Given the description of an element on the screen output the (x, y) to click on. 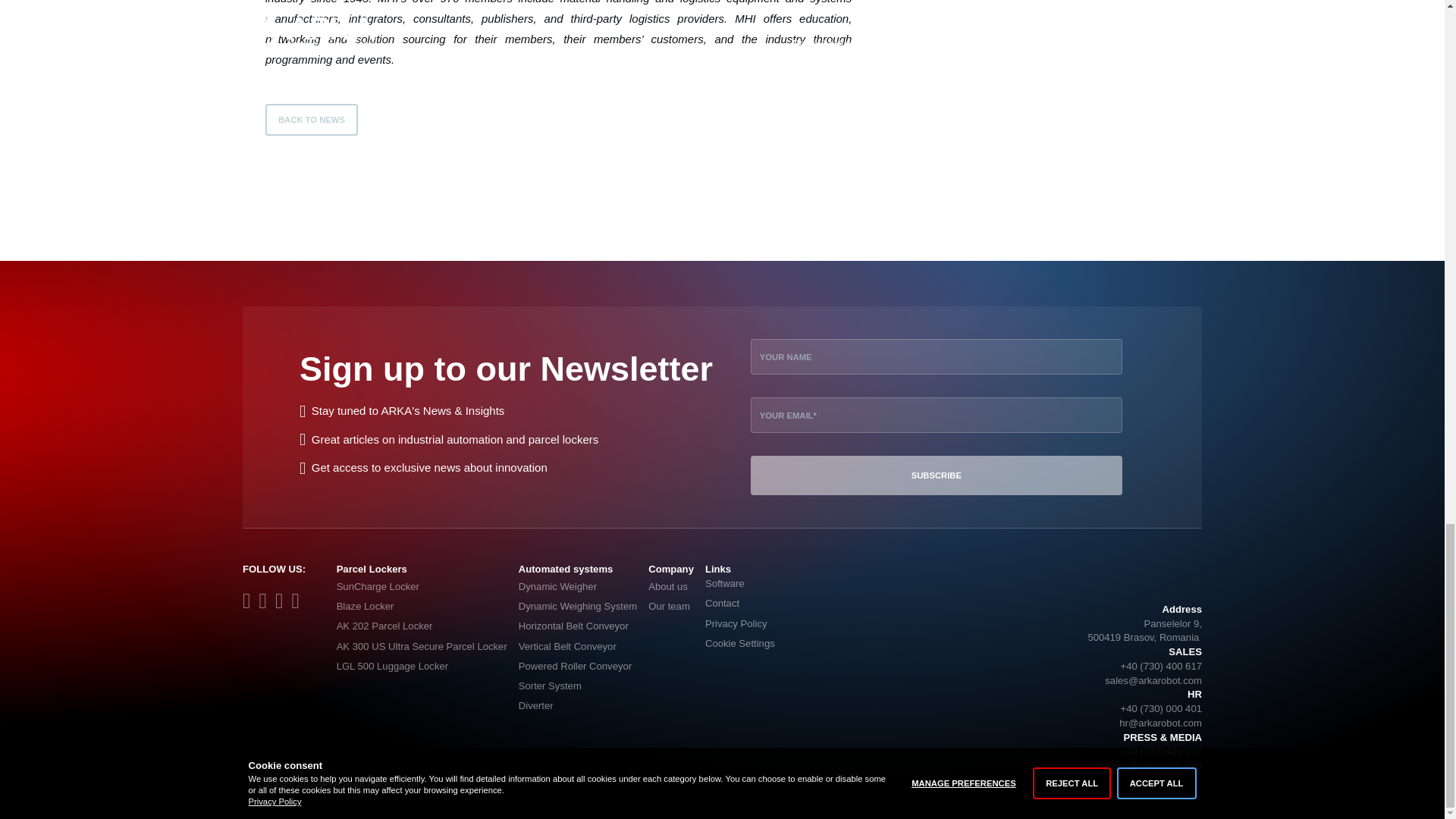
Blaze Locker (421, 606)
BACK TO NEWS (311, 119)
Follow us on YouTube (283, 603)
Software (739, 587)
Our team (670, 606)
SUBSCRIBE (936, 475)
Powered Roller Conveyor (577, 666)
Vertical Belt Conveyor (577, 646)
Diverter (577, 705)
AK 300 US Ultra Secure Parcel Locker (421, 646)
Dynamic Weigher (577, 587)
Sorter System (577, 686)
Privacy Policy (739, 627)
AK 202 Parcel Locker (421, 627)
Dynamic Weighing System (577, 606)
